Given the description of an element on the screen output the (x, y) to click on. 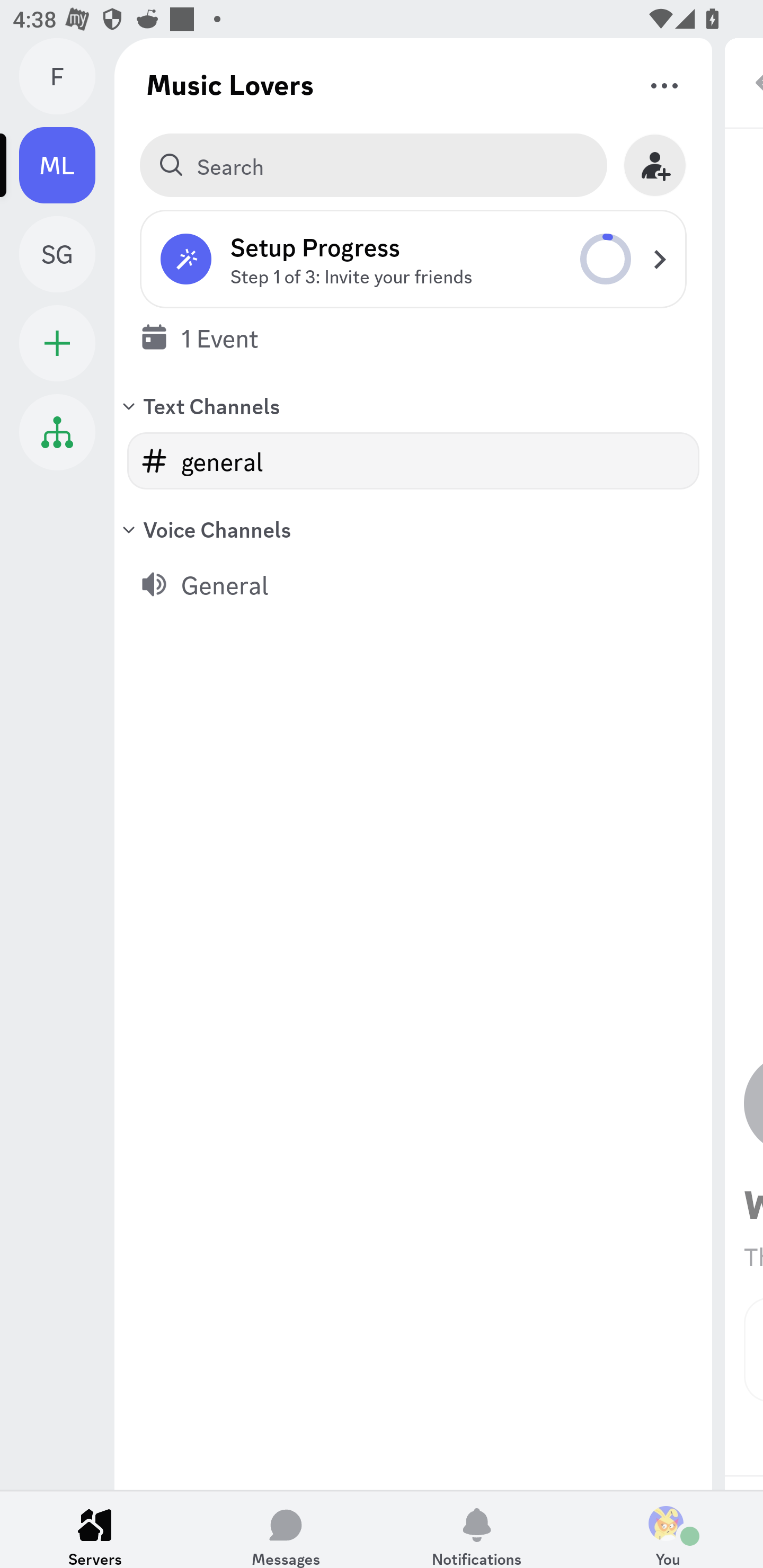
  Friends F (66, 75)
Music Lovers (230, 83)
  Music Lovers ML (66, 165)
Search (373, 165)
Invite (654, 165)
  Study Group SG (66, 253)
Add a Server (57, 343)
Events 1 Event (413, 336)
Text Channels (412, 404)
Student Hub (57, 431)
general (text channel) general (413, 460)
Voice Channels (412, 528)
General (voice channel), 0 users General (413, 584)
Servers (95, 1529)
Messages (285, 1529)
Notifications (476, 1529)
You (667, 1529)
